Given the description of an element on the screen output the (x, y) to click on. 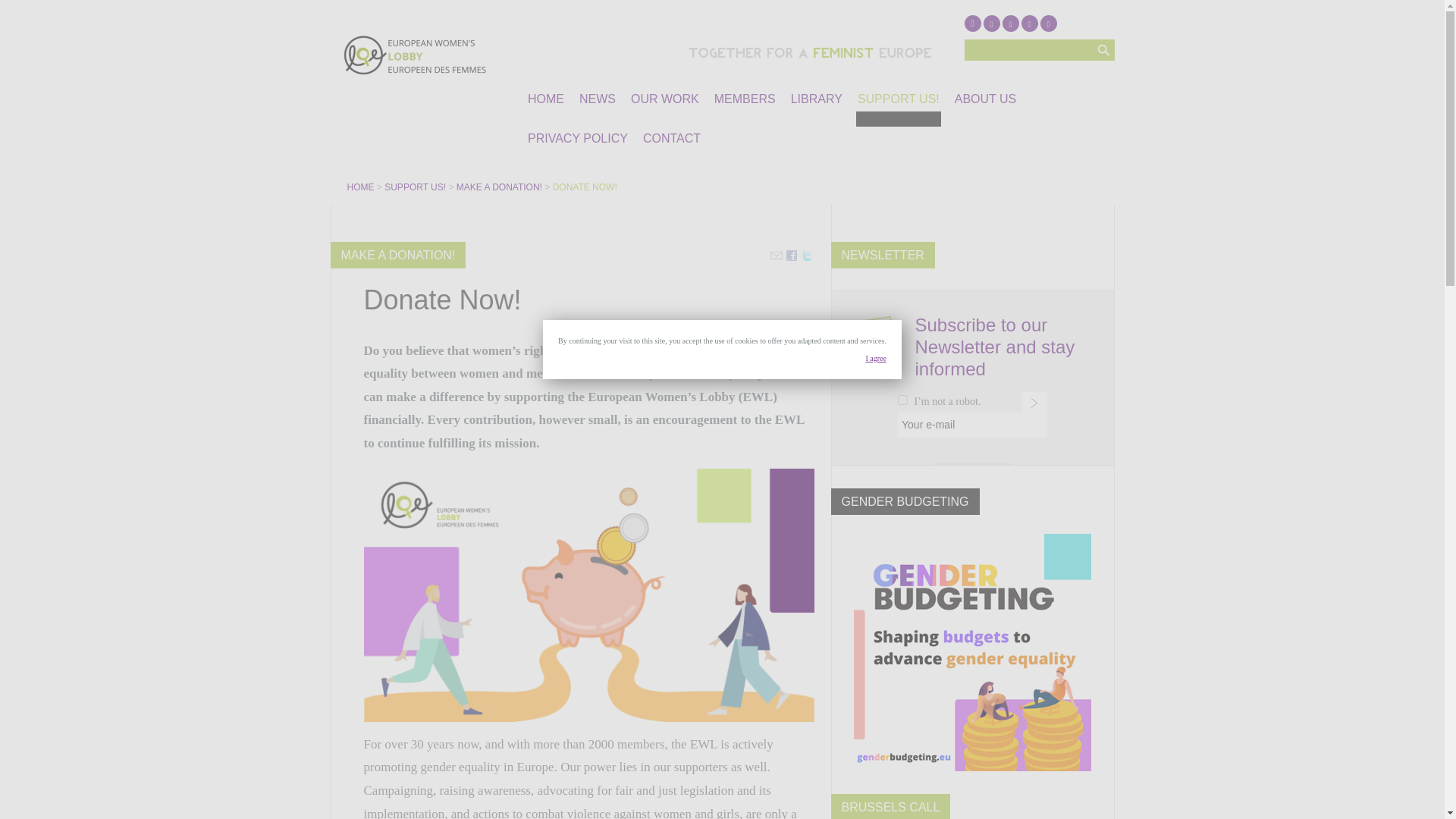
Rechercher (1103, 49)
Make a Donation! (500, 186)
1 (902, 399)
Subscribe to the Newsletter (1034, 403)
European Women's Lobby (362, 186)
Support us! (416, 186)
